Given the description of an element on the screen output the (x, y) to click on. 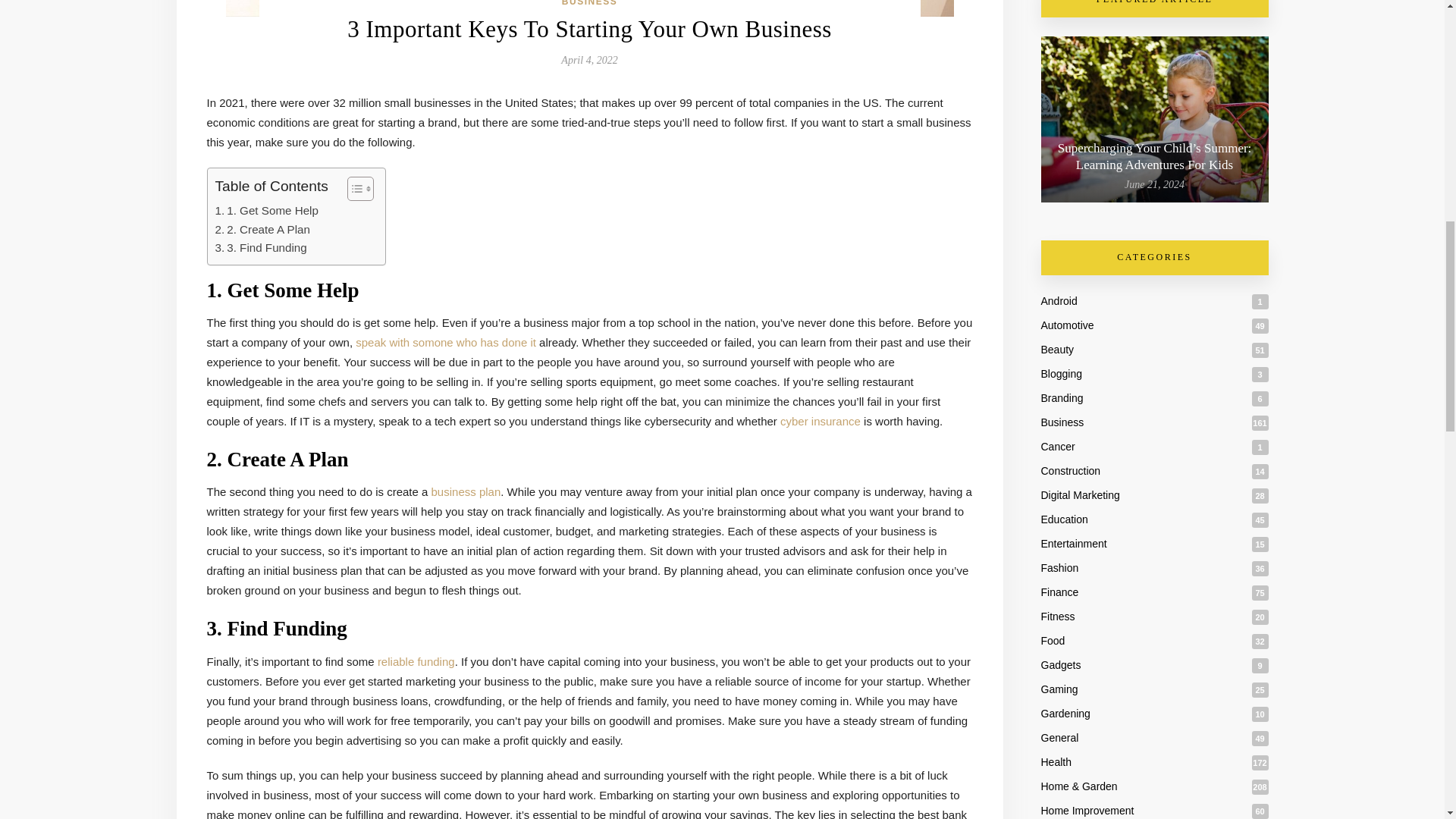
3. Find Funding (261, 248)
1. Get Some Help (266, 210)
2. Create A Plan (262, 229)
